Given the description of an element on the screen output the (x, y) to click on. 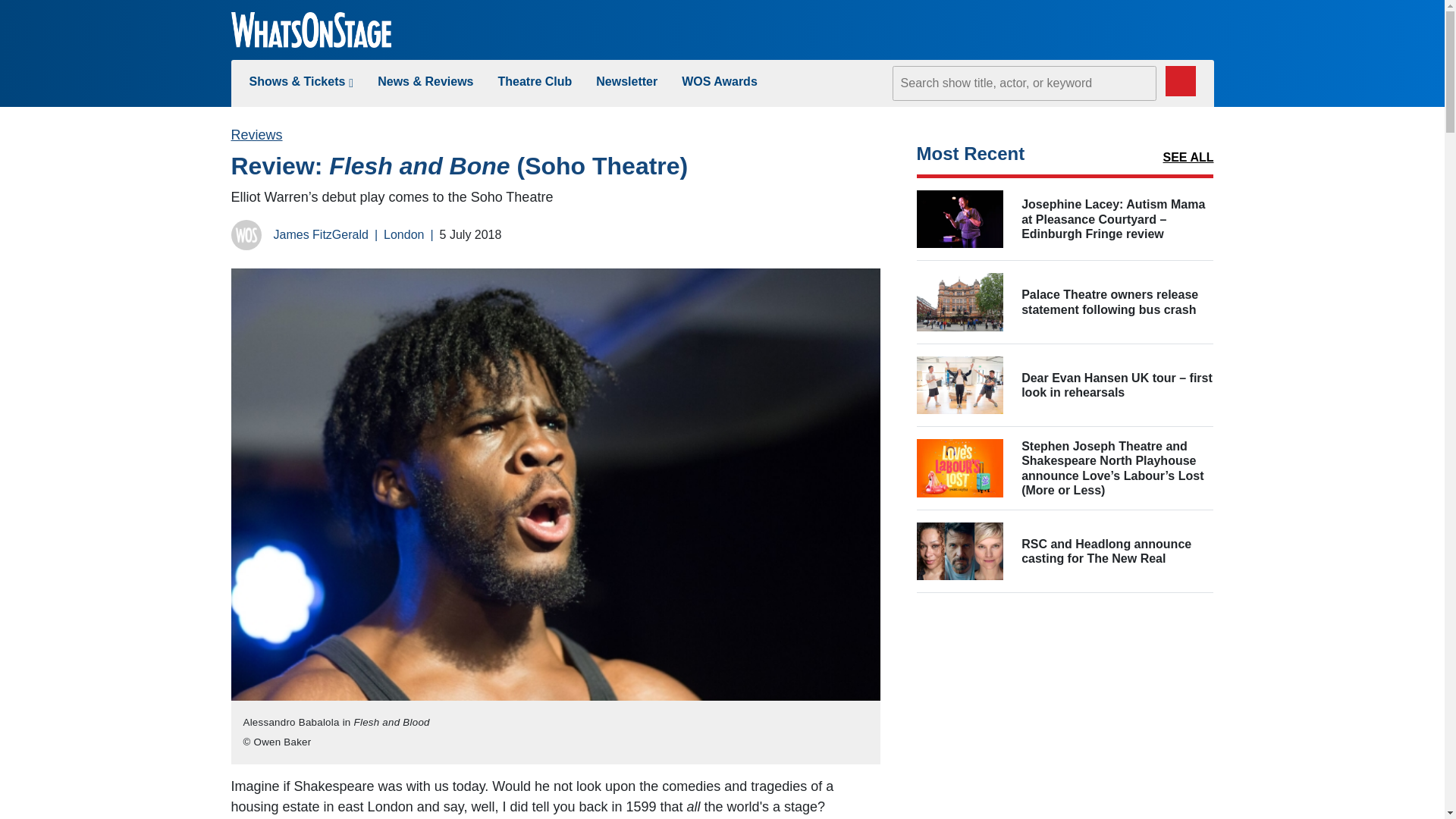
Theatre Club (534, 81)
Newsletter (626, 81)
WOS Awards (719, 81)
new-and-reviews-link (425, 81)
